Given the description of an element on the screen output the (x, y) to click on. 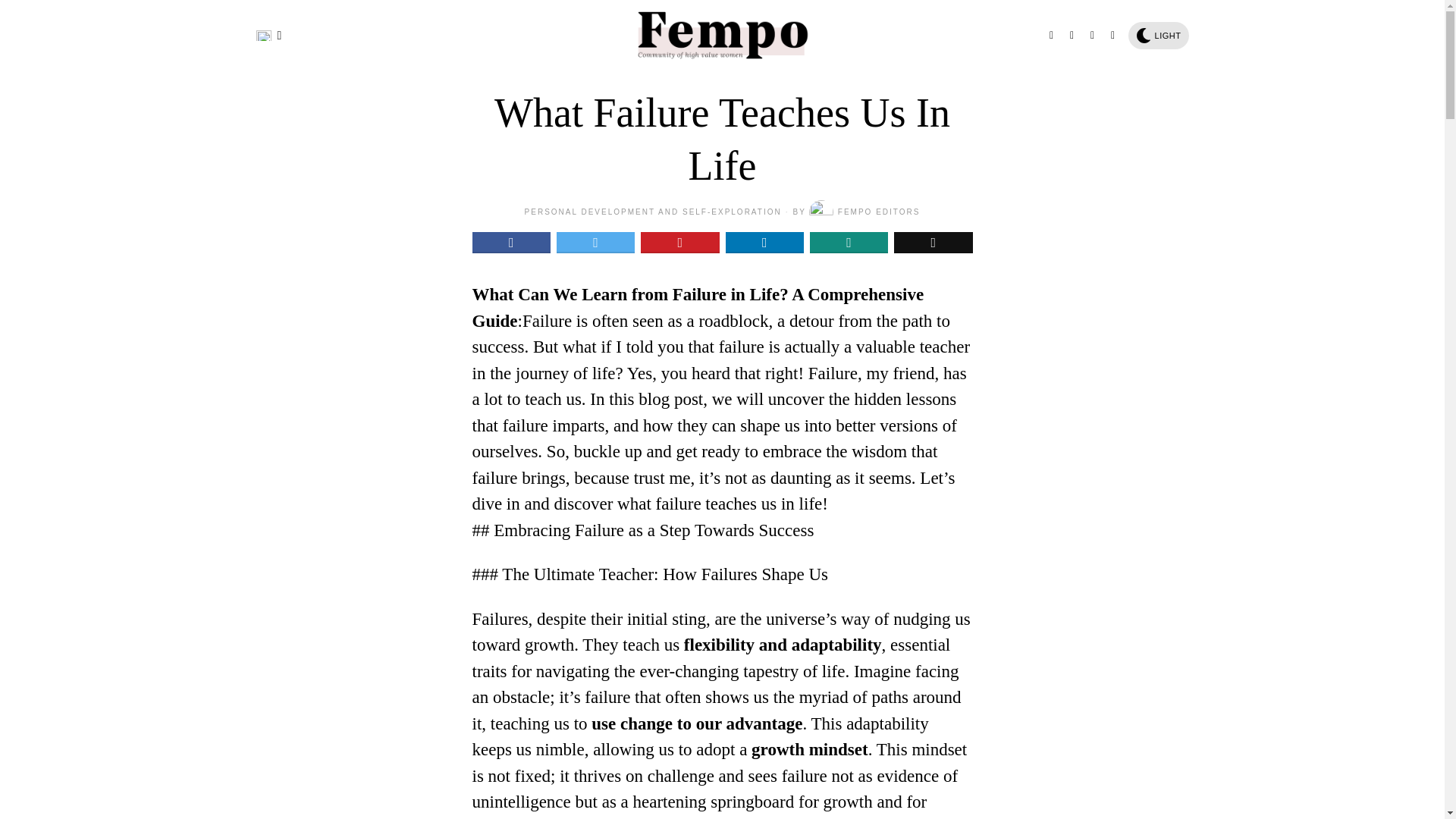
PERSONAL DEVELOPMENT AND SELF-EXPLORATION (652, 212)
FEMPO EDITORS (864, 211)
